Given the description of an element on the screen output the (x, y) to click on. 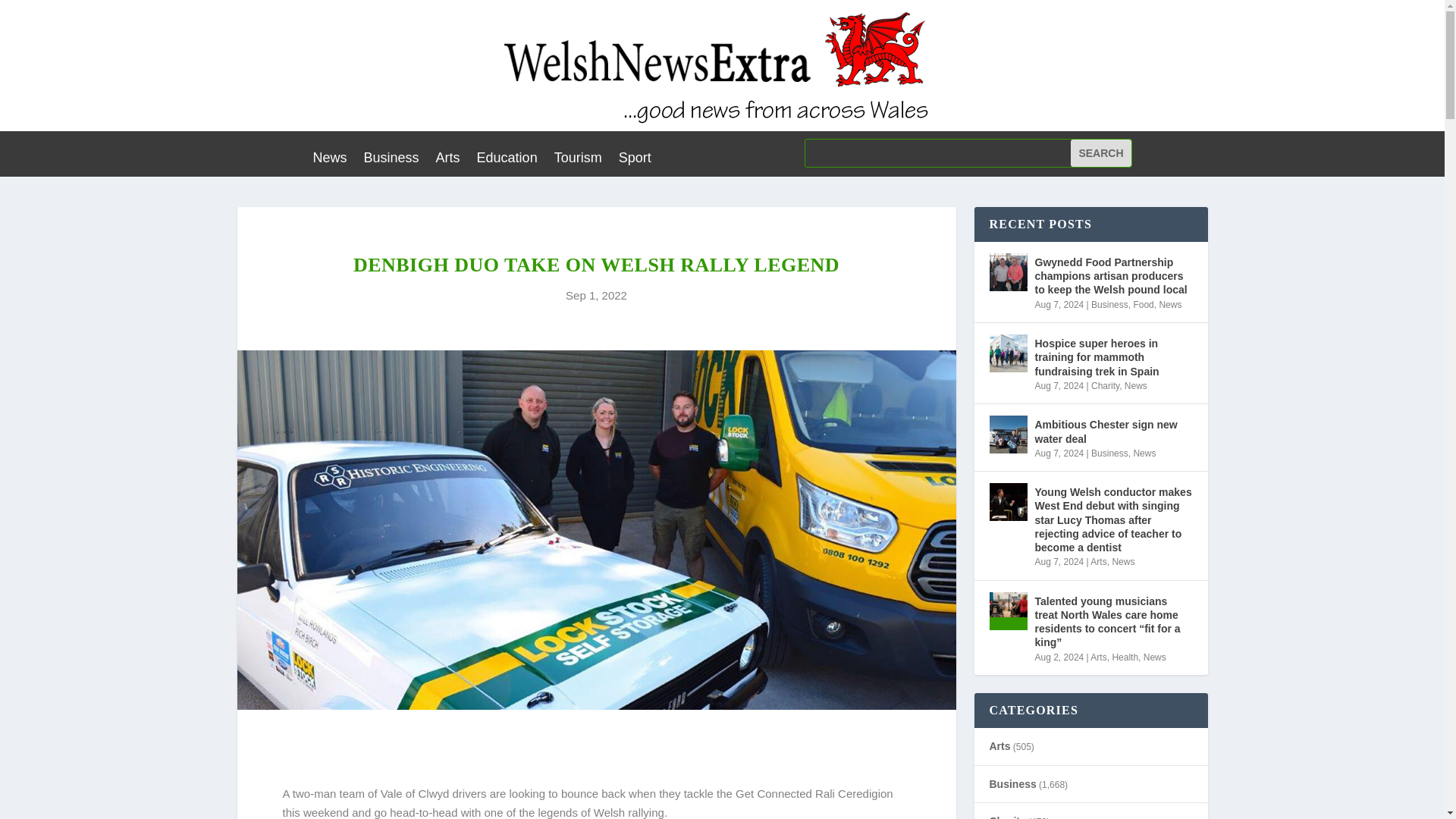
Arts (447, 160)
Business (391, 160)
Search (1100, 153)
Education (507, 160)
Sport (634, 160)
Search (1100, 153)
News (329, 160)
logo10 (722, 65)
